Given the description of an element on the screen output the (x, y) to click on. 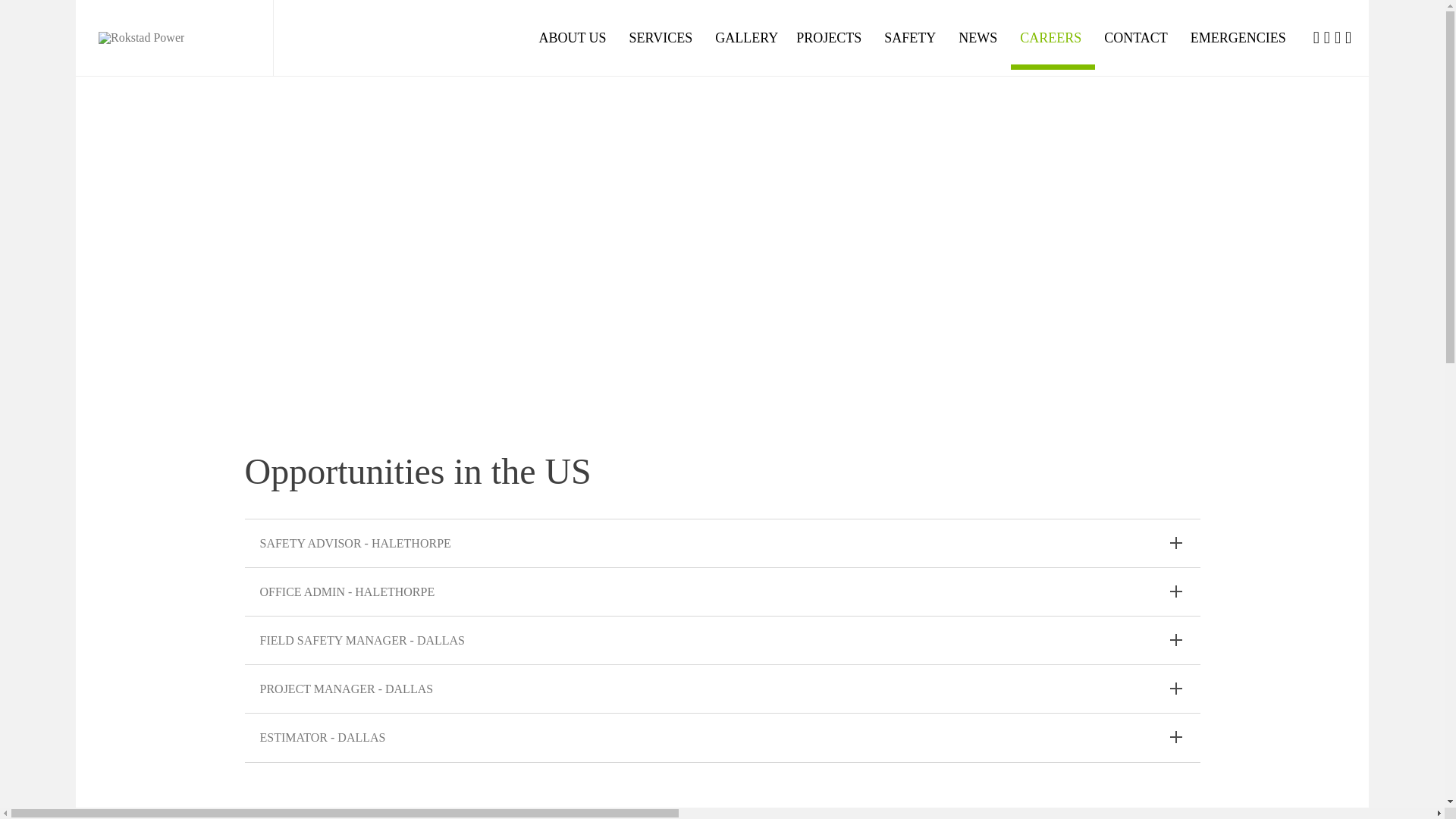
PROJECTS (831, 37)
Rokstad Power (174, 37)
SERVICES (663, 37)
ABOUT US (574, 37)
SAFETY (912, 37)
GALLERY (746, 37)
